Given the description of an element on the screen output the (x, y) to click on. 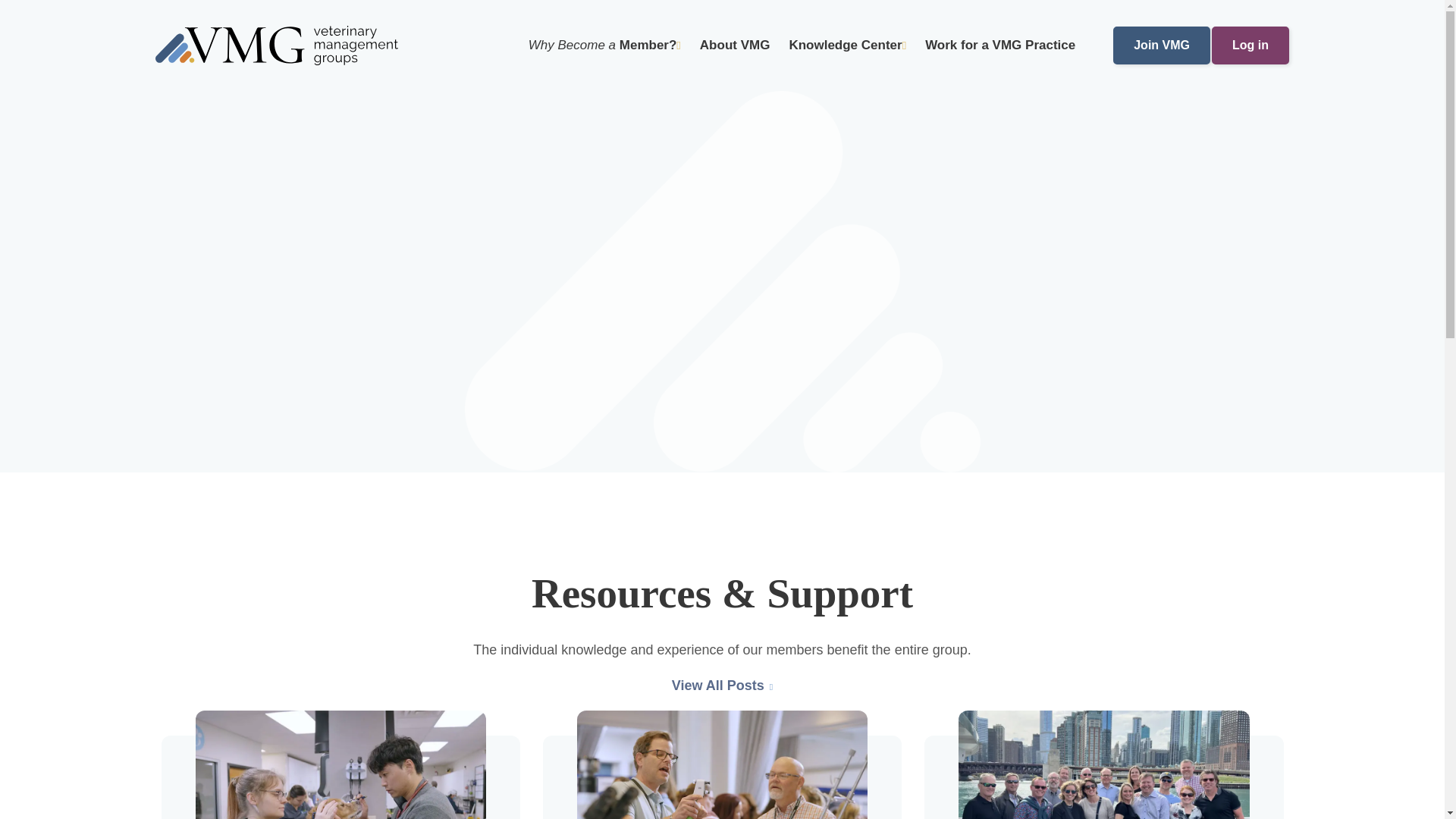
Why Become a Member? (604, 45)
View All Posts (722, 686)
About VMG (735, 45)
Log in (1249, 45)
Work for a VMG Practice (999, 45)
Join VMG (1161, 45)
Knowledge Center (847, 45)
